Given the description of an element on the screen output the (x, y) to click on. 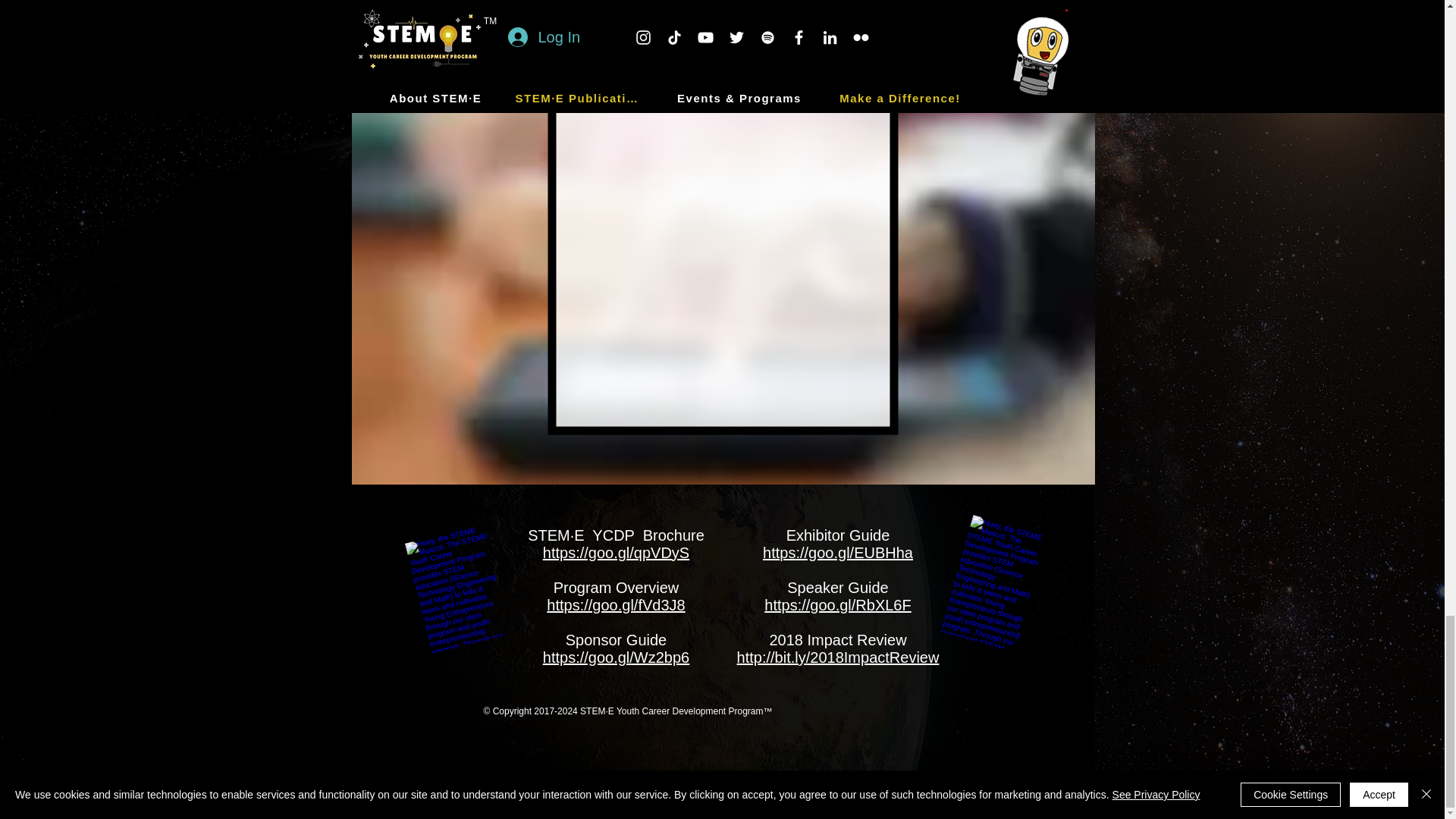
Huey, the STEME Mascot (445, 580)
Huey, the STEME Mascot (980, 575)
